Given the description of an element on the screen output the (x, y) to click on. 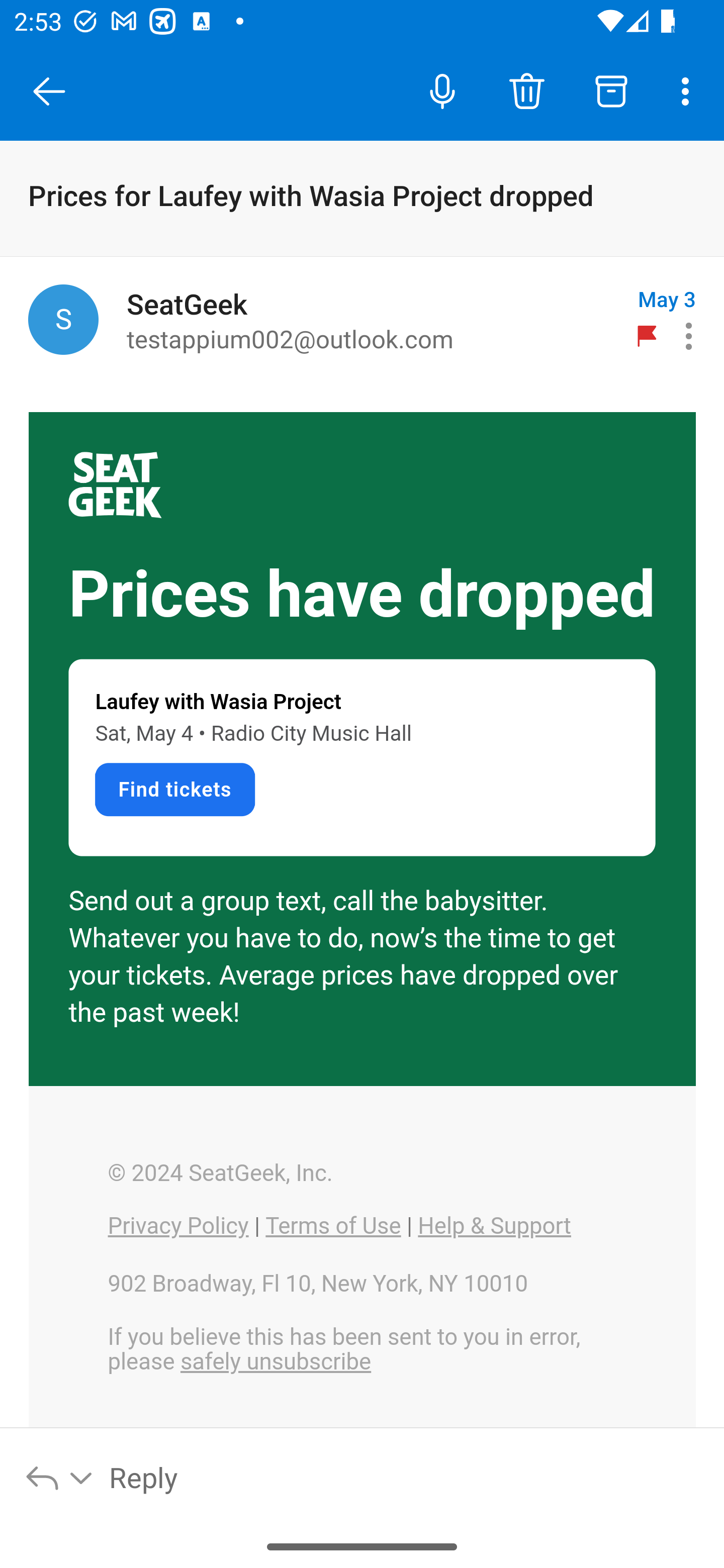
Close (49, 91)
Delete (526, 90)
Archive (611, 90)
More options (688, 90)
SeatGeek, events@seatgeek.com (63, 318)
SeatGeek
to testappium002@outlook.com (372, 319)
Message actions (688, 336)
Prices have dropped (361, 594)
Laufey with Wasia Project (218, 702)
Find tickets (174, 789)
Privacy Policy (178, 1226)
Terms of Use (332, 1226)
Help & Support (494, 1226)
902 Broadway, Fl 10, New York, NY 10010 (317, 1284)
safely unsubscribe (275, 1362)
Reply options (59, 1476)
